Given the description of an element on the screen output the (x, y) to click on. 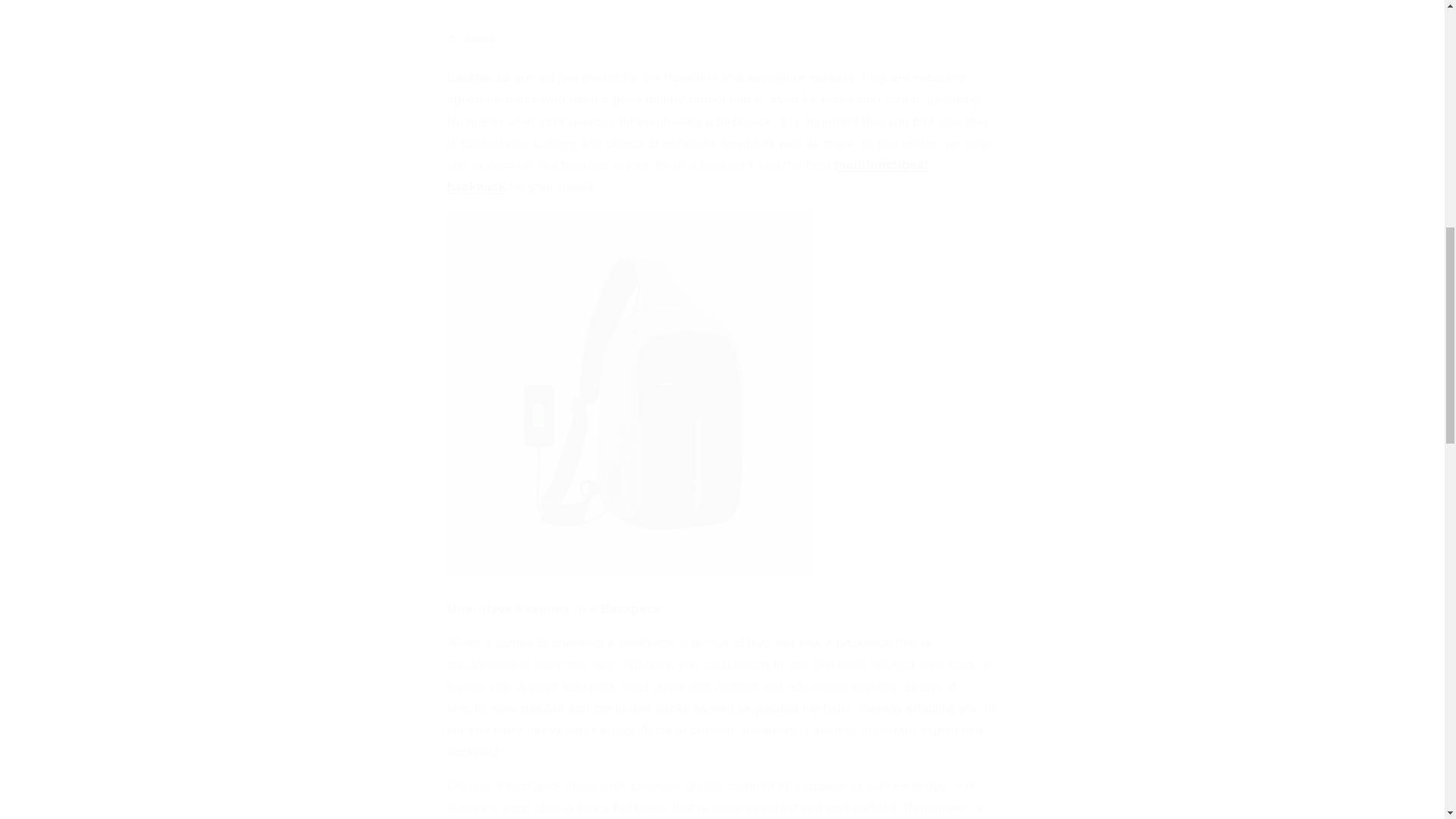
Share (721, 38)
